Given the description of an element on the screen output the (x, y) to click on. 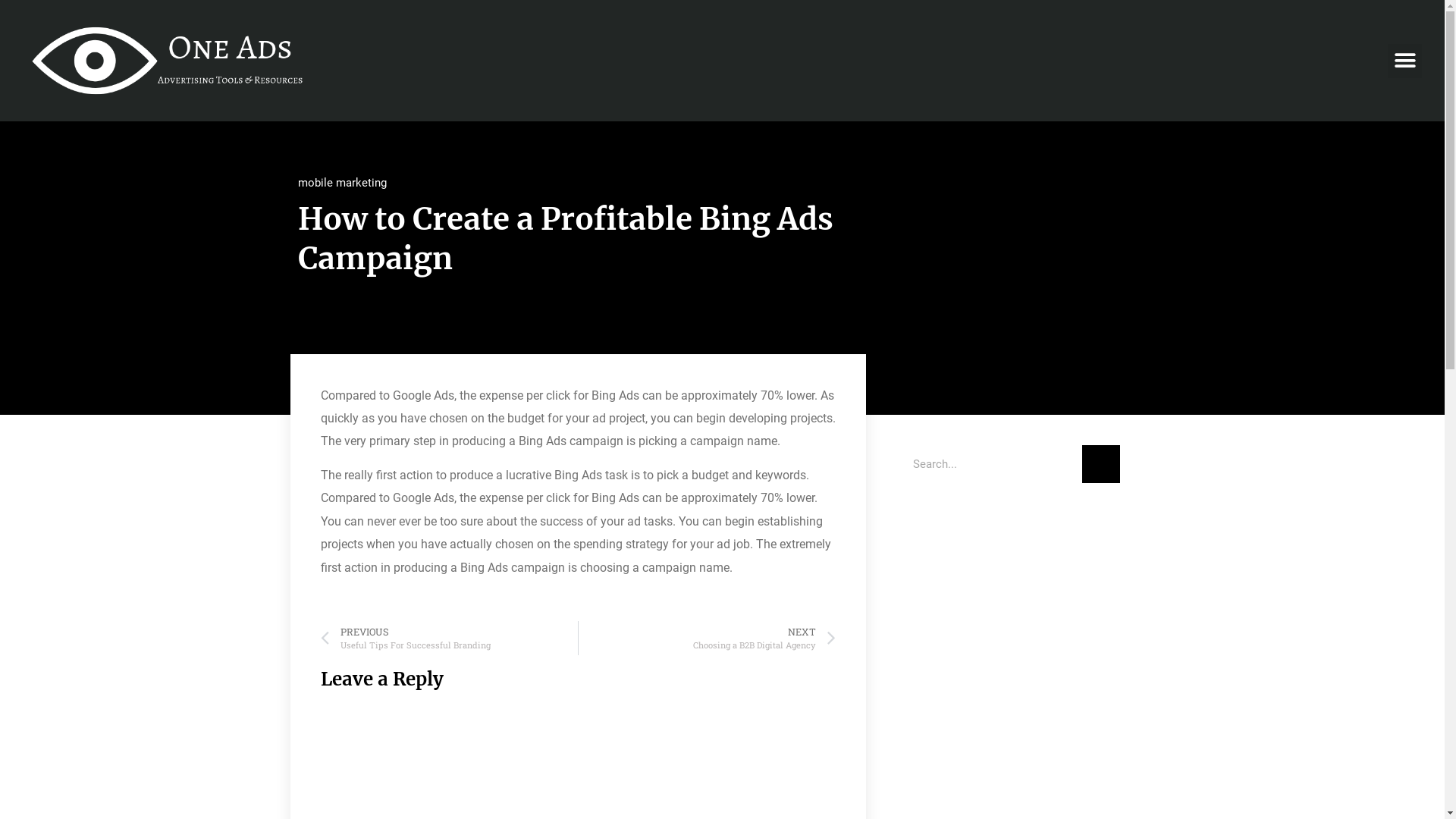
mobile marketing Element type: text (341, 182)
NEXT
Choosing a B2B Digital Agency Element type: text (706, 638)
PREVIOUS
Useful Tips For Successful Branding Element type: text (448, 638)
